Given the description of an element on the screen output the (x, y) to click on. 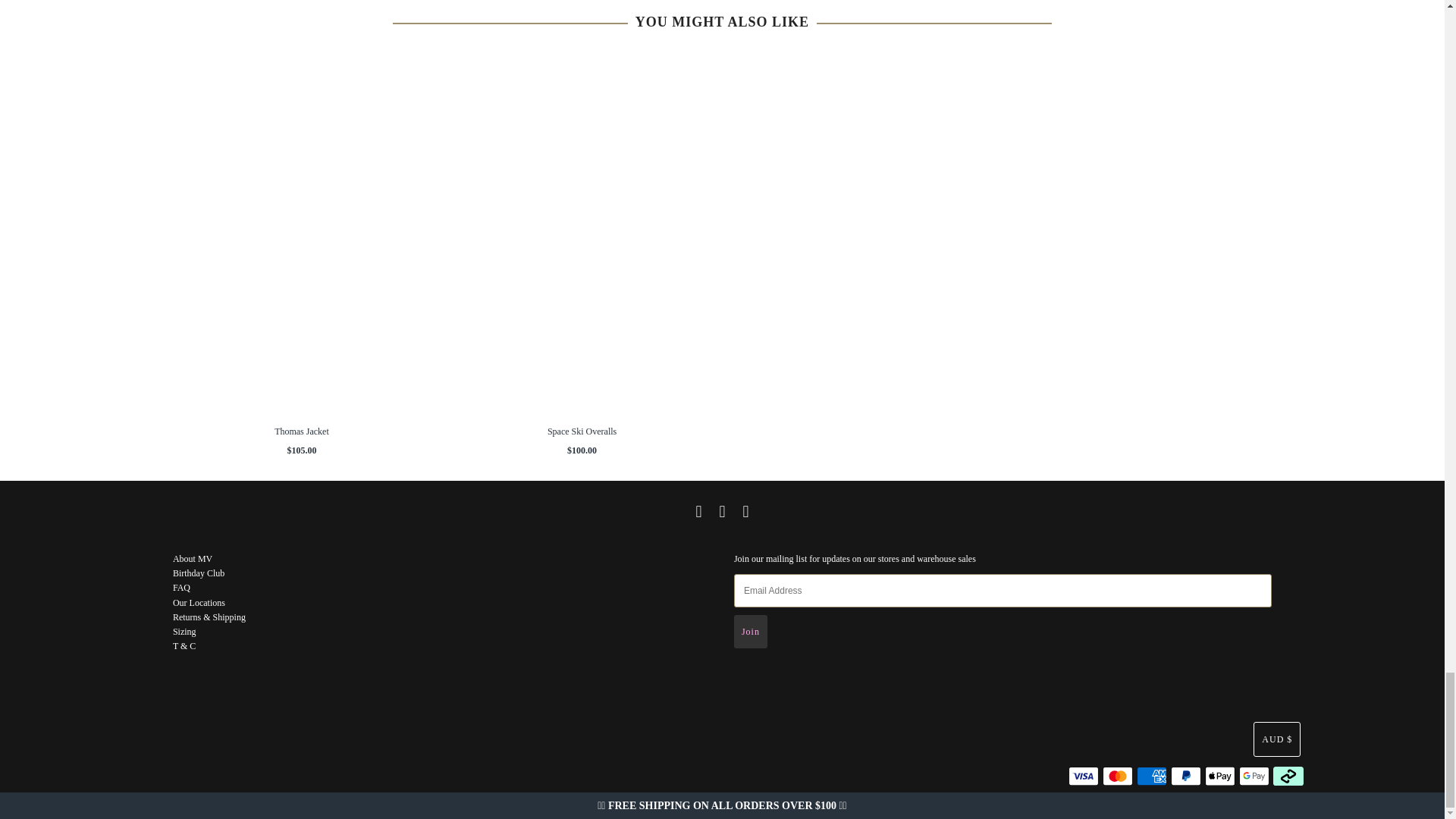
Visa (1083, 775)
PayPal (1185, 775)
Apple Pay (1219, 775)
Mastercard (1117, 775)
Google Pay (1254, 775)
American Express (1152, 775)
Afterpay (1287, 775)
Join (750, 631)
